Given the description of an element on the screen output the (x, y) to click on. 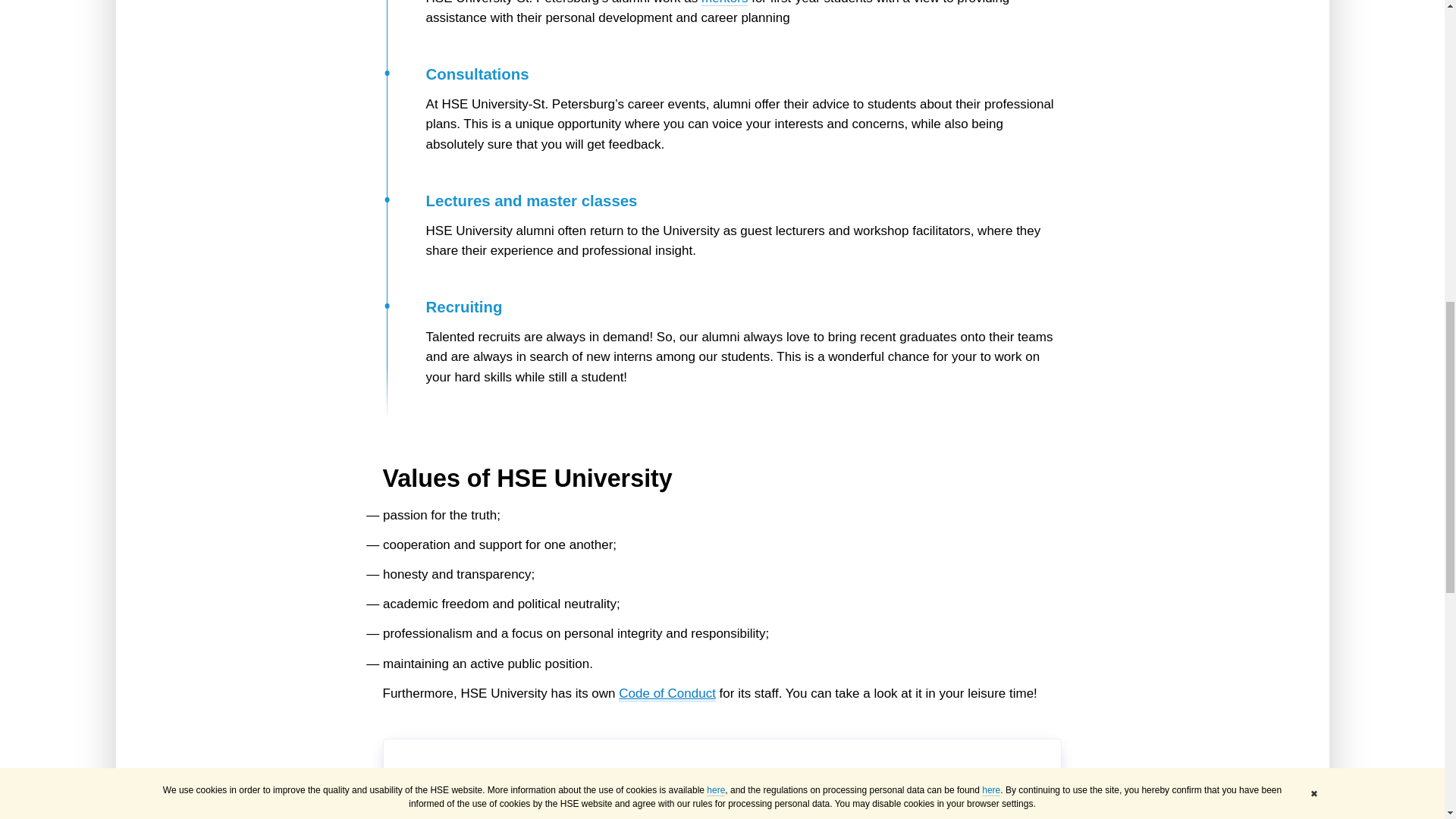
Code of Conduct (667, 693)
here (537, 778)
mentors (724, 2)
